Given the description of an element on the screen output the (x, y) to click on. 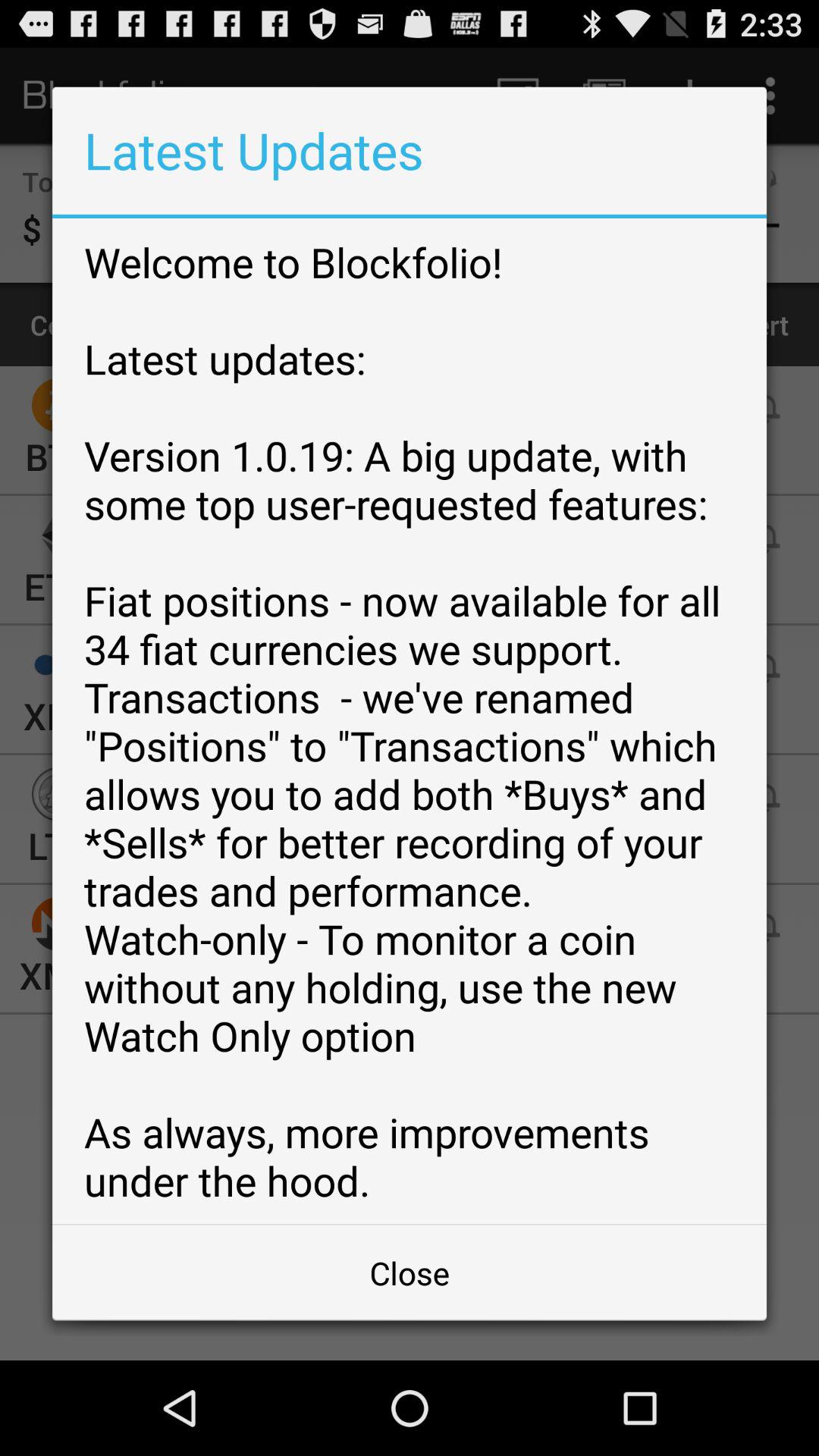
scroll until the close item (409, 1272)
